Given the description of an element on the screen output the (x, y) to click on. 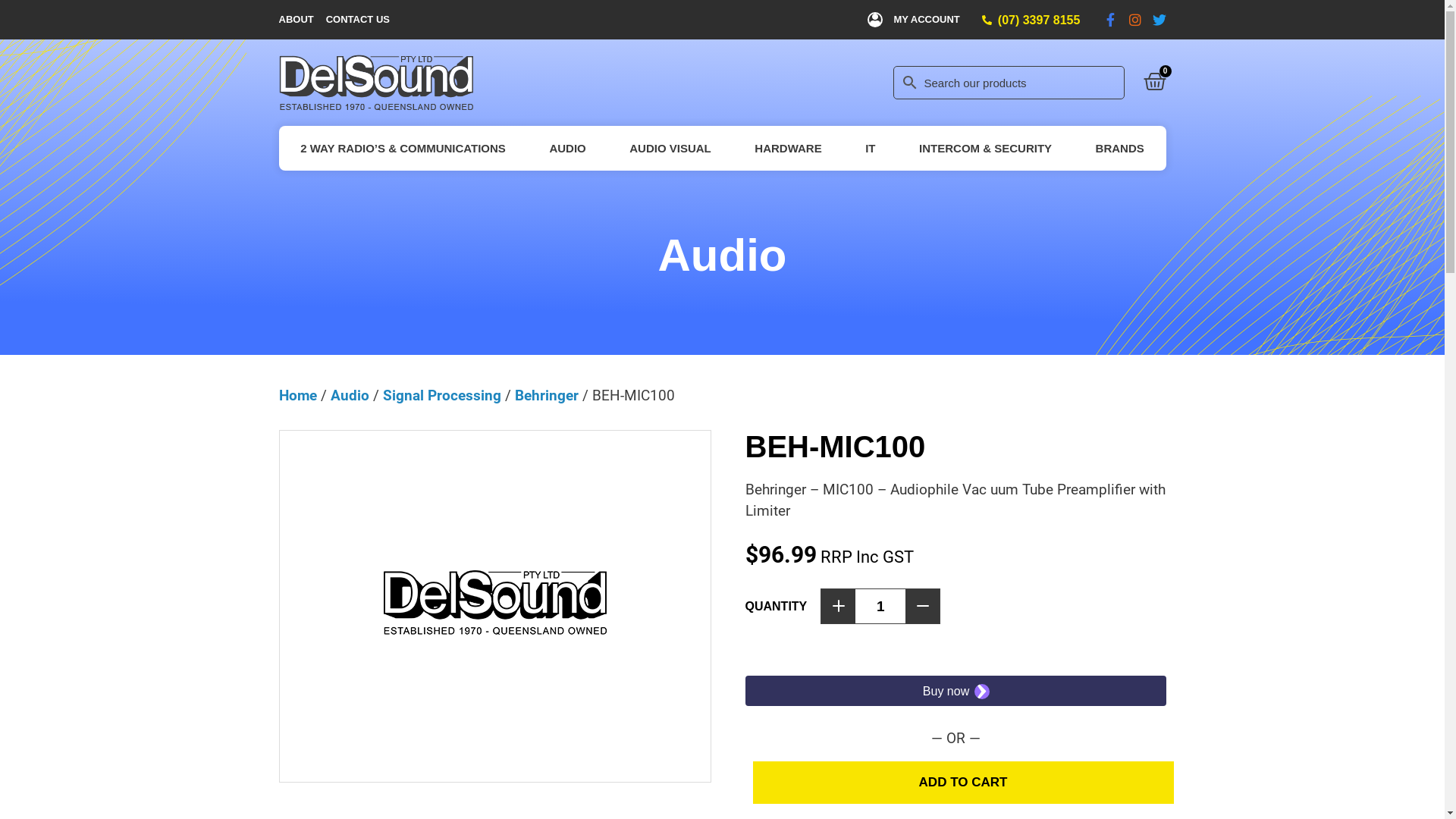
Signal Processing Element type: text (441, 395)
CONTACT US Element type: text (357, 19)
HARDWARE Element type: text (788, 147)
Qty Element type: hover (880, 605)
Behringer Element type: text (545, 395)
BRANDS Element type: text (1119, 147)
AUDIO VISUAL Element type: text (670, 147)
ADD TO CART Element type: text (962, 782)
Audio Element type: text (349, 395)
INTERCOM & SECURITY Element type: text (985, 147)
(07) 3397 8155 Element type: text (1038, 19)
MY ACCOUNT Element type: text (926, 19)
IT Element type: text (870, 147)
Home Element type: text (297, 395)
AUDIO Element type: text (567, 147)
ABOUT Element type: text (296, 19)
Secure payment button frame Element type: hover (954, 690)
0 Element type: text (1154, 81)
